Given the description of an element on the screen output the (x, y) to click on. 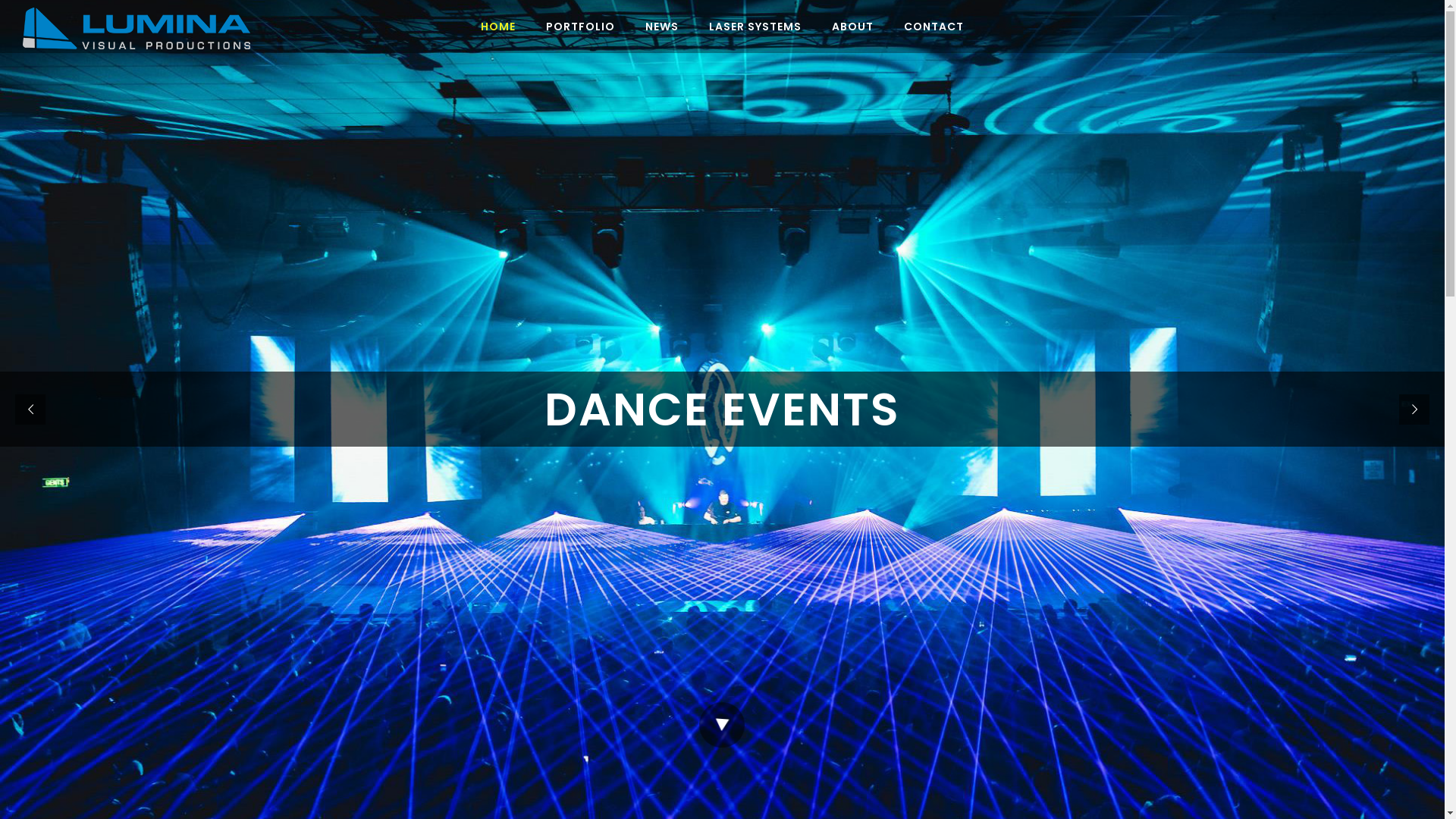
NEWS Element type: text (661, 26)
CONTACT Element type: text (933, 26)
ABOUT Element type: text (852, 26)
PORTFOLIO Element type: text (580, 26)
HOME Element type: text (497, 26)
LASER SYSTEMS Element type: text (754, 26)
